Given the description of an element on the screen output the (x, y) to click on. 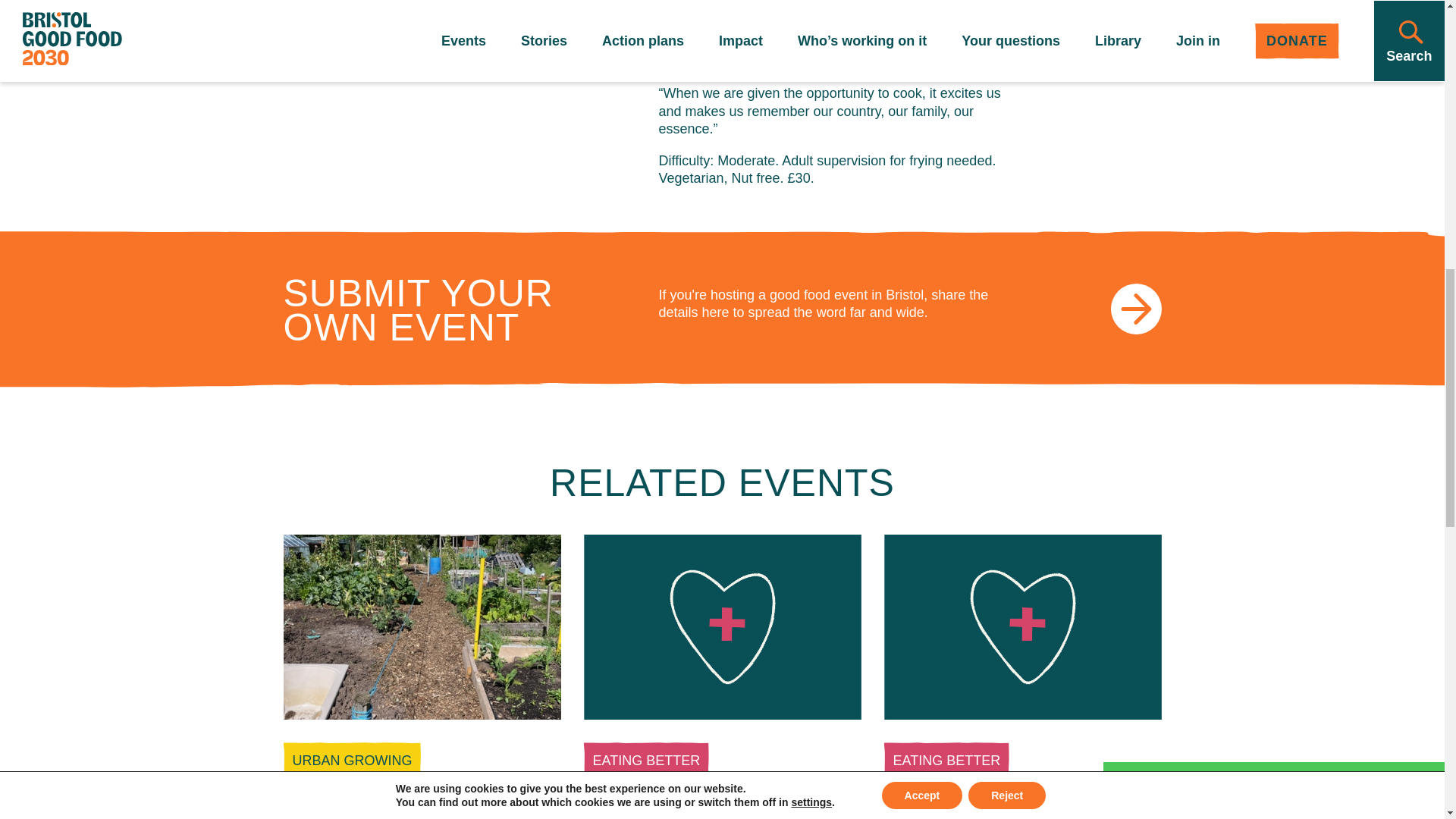
Tuesday Volunteering at The Community Farm (716, 816)
Thursday Volunteering at The Community Farm (1021, 816)
